Given the description of an element on the screen output the (x, y) to click on. 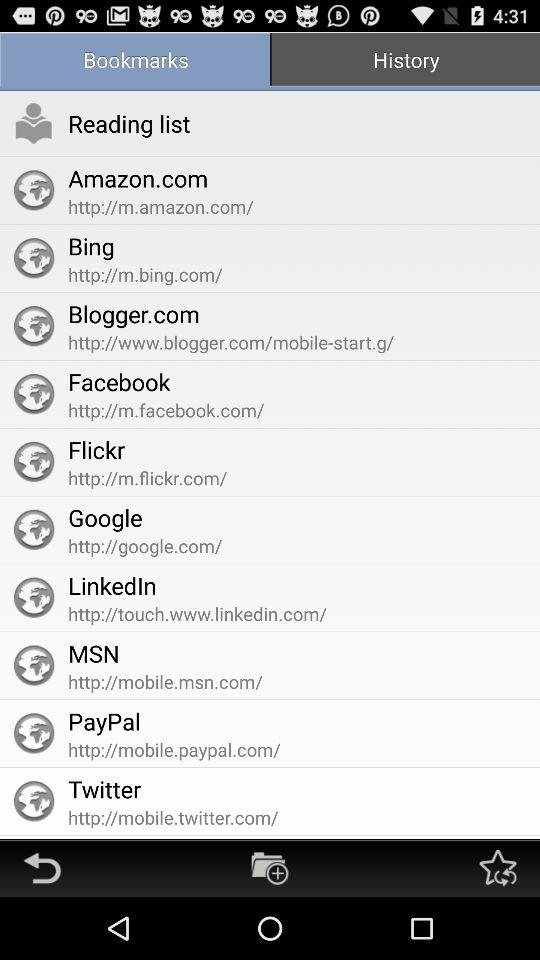
open the app at the top right corner (405, 61)
